Given the description of an element on the screen output the (x, y) to click on. 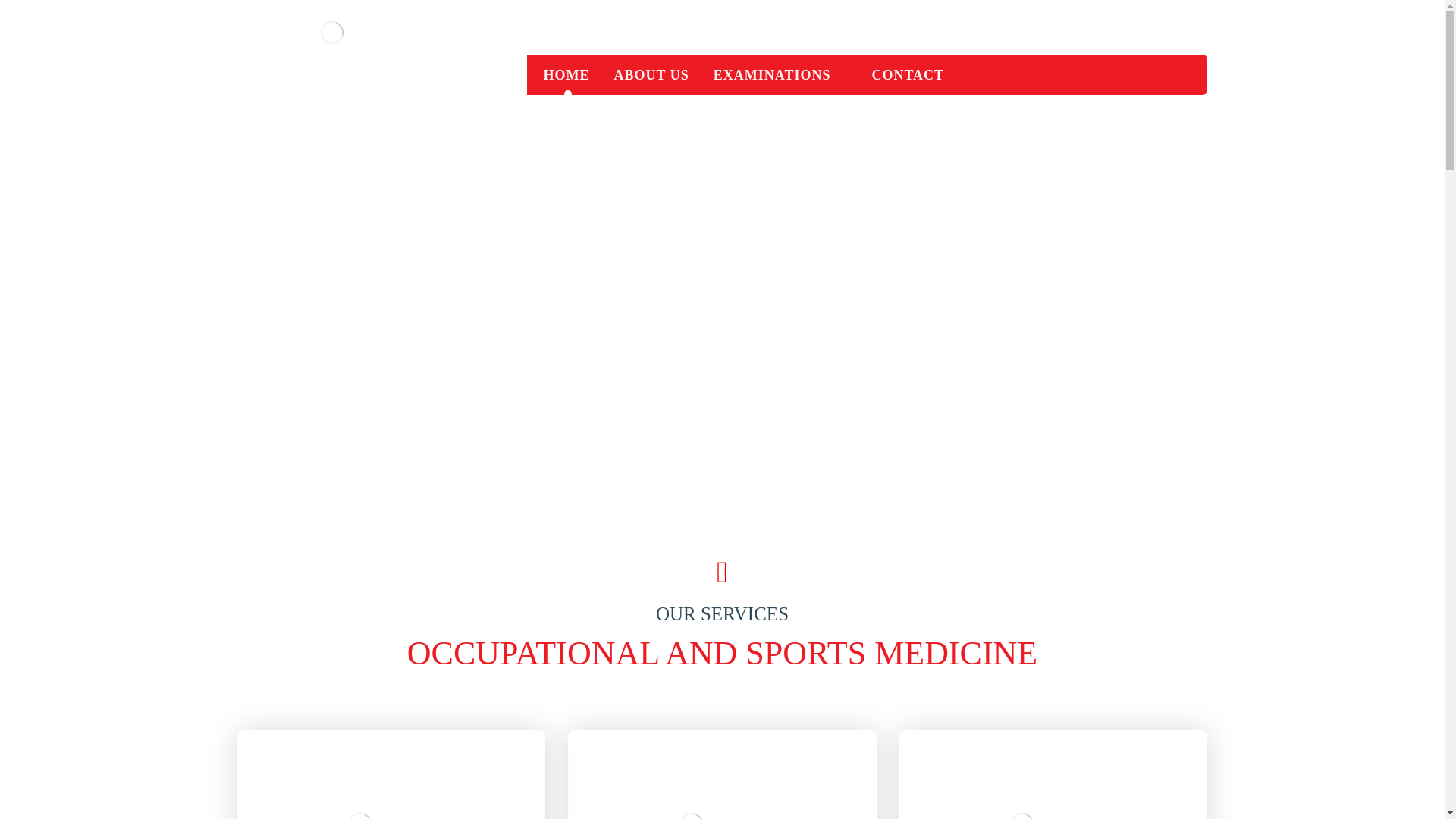
CONTACT (906, 74)
ABOUT US (721, 774)
Medical examinations of drivers (651, 74)
HOME (721, 774)
EASA AeMC aircrew examinations (566, 74)
Pregledi zrakoplovnog osoblja (389, 774)
EXAMINATIONS (359, 774)
Medicina rada i sporta (780, 74)
